Given the description of an element on the screen output the (x, y) to click on. 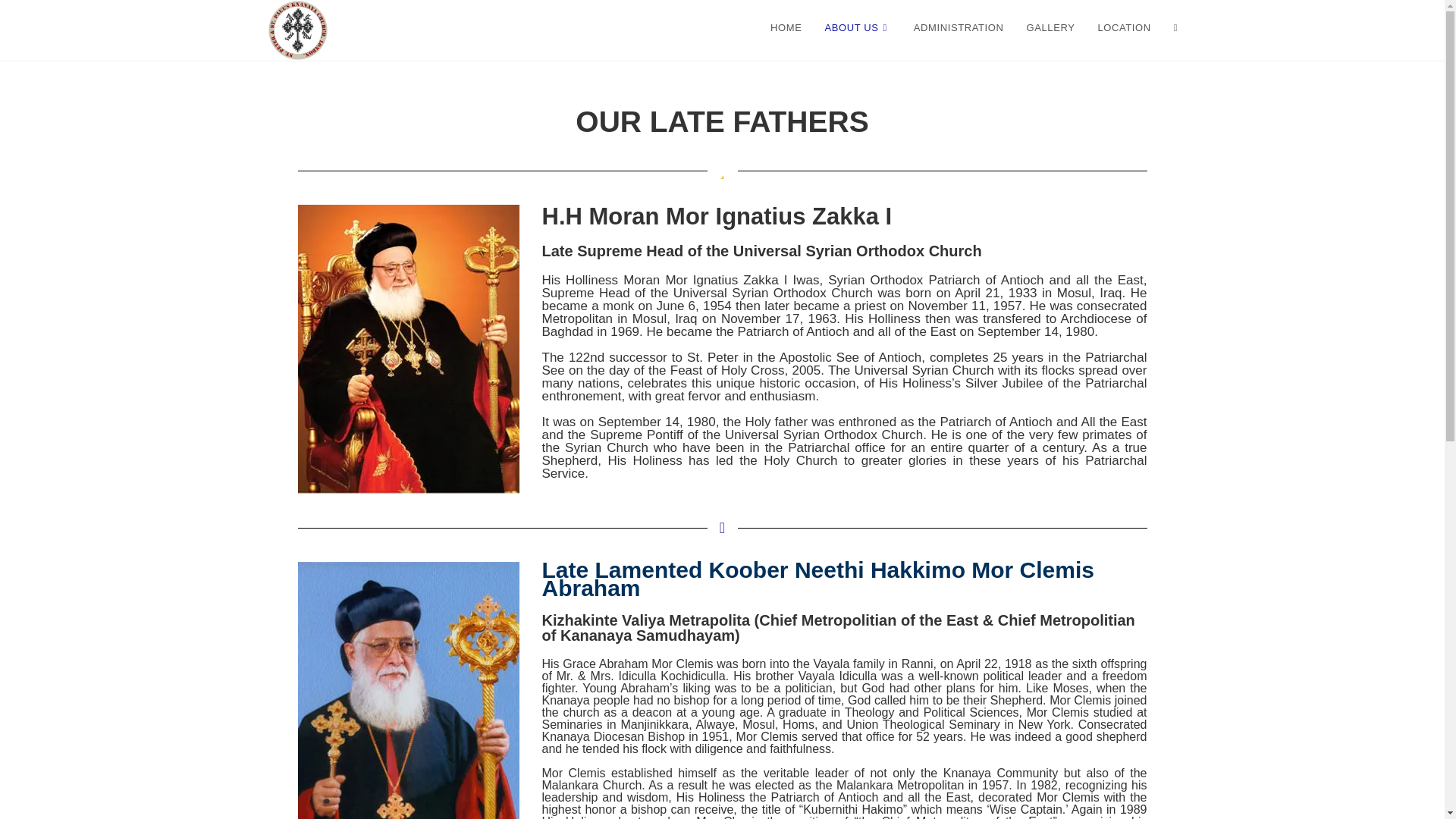
GALLERY (1050, 28)
ADMINISTRATION (958, 28)
HOME (785, 28)
LOCATION (1123, 28)
EZEESOLUTIONS. (860, 802)
ABOUT US (856, 28)
